Given the description of an element on the screen output the (x, y) to click on. 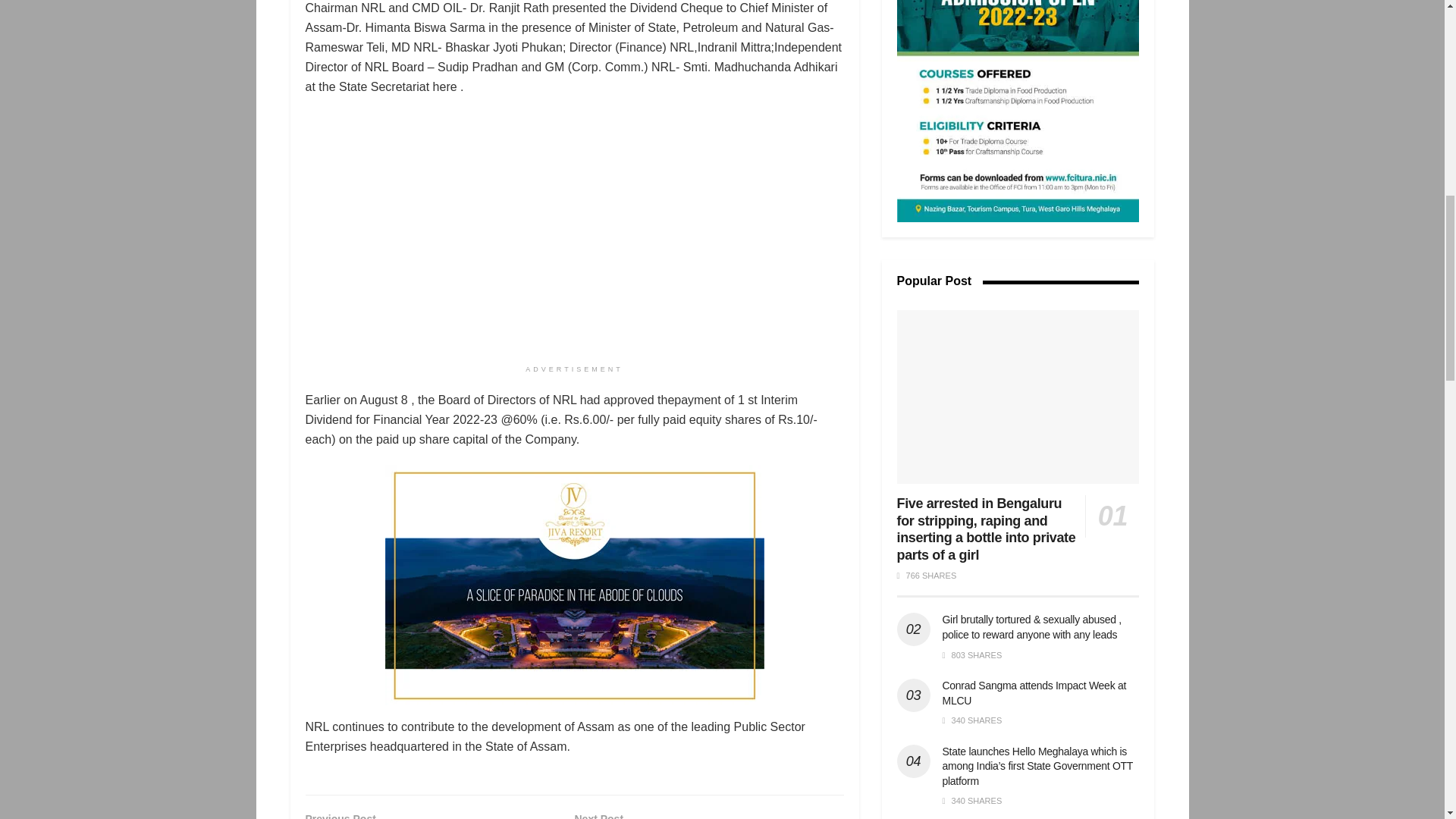
Advertisement (1017, 110)
